Given the description of an element on the screen output the (x, y) to click on. 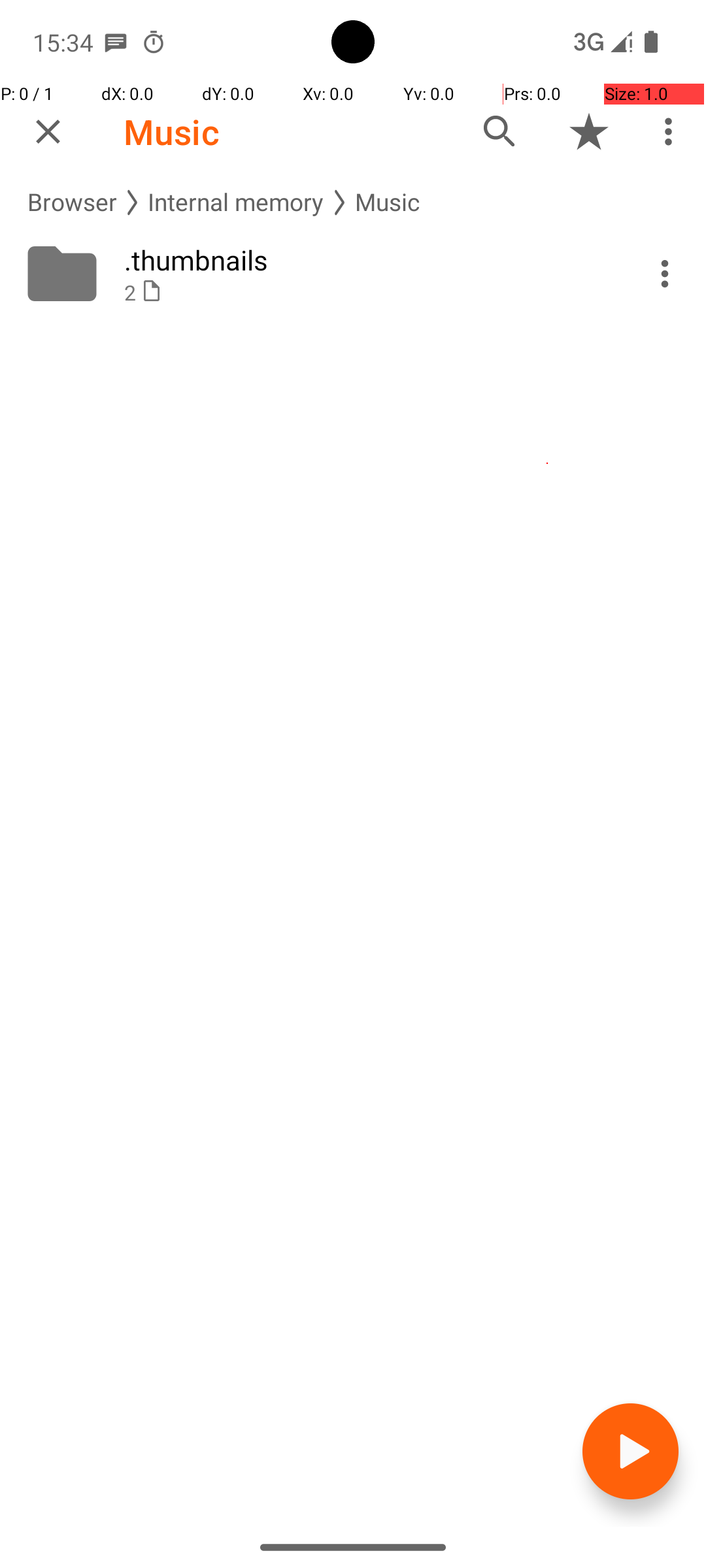
Folder: .thumbnails, 2 media files Element type: android.view.ViewGroup (353, 273)
.thumbnails Element type: android.widget.TextView (366, 259)
2 *§* Element type: android.widget.TextView (366, 292)
